Given the description of an element on the screen output the (x, y) to click on. 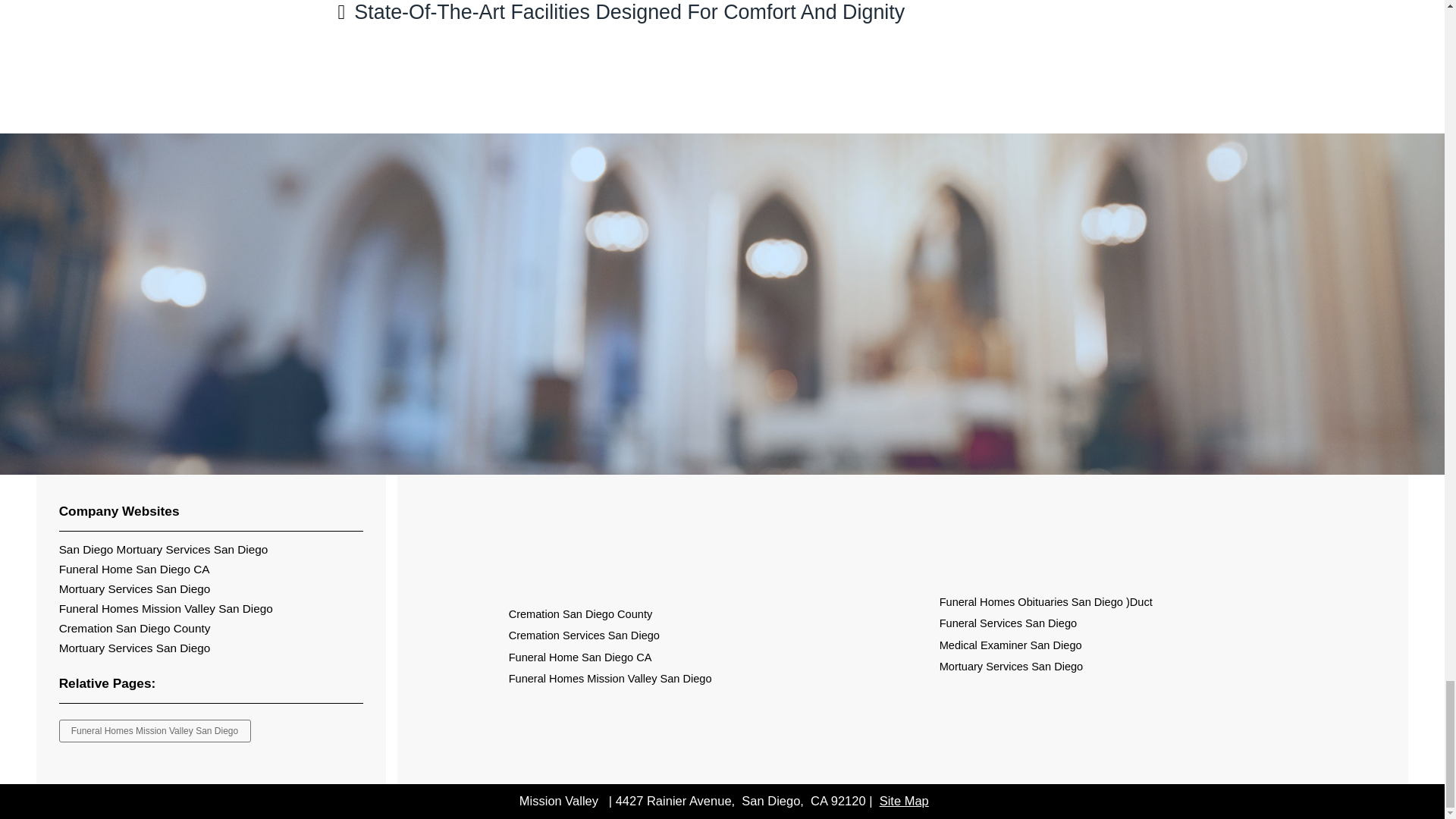
Funeral Home San Diego CA (580, 657)
Funeral Homes Mission Valley San Diego (609, 678)
Cremation Services San Diego (583, 635)
San Diego Mortuary Services San Diego (163, 549)
Mortuary Services San Diego (1011, 666)
Funeral Homes Mission Valley San Diego (166, 608)
Site Map (903, 800)
Cremation San Diego County (135, 627)
Funeral Services San Diego (1008, 623)
Medical Examiner San Diego (1010, 645)
Mortuary Services San Diego (135, 647)
Mortuary Services San Diego (135, 588)
Cremation San Diego County (580, 613)
Funeral Home San Diego CA (134, 568)
